Given the description of an element on the screen output the (x, y) to click on. 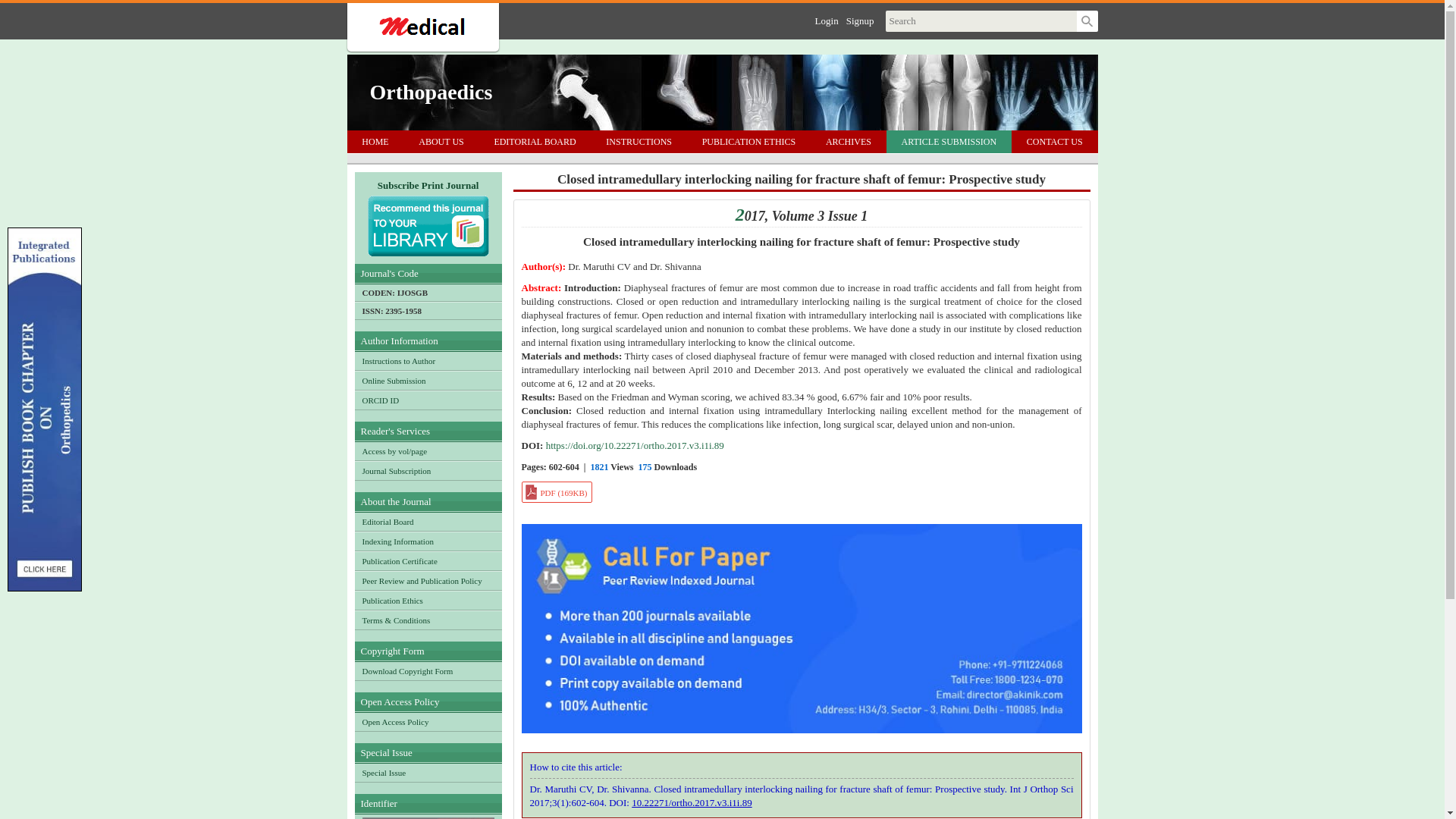
Editorial Board (428, 521)
Signup (860, 20)
Special Issue (428, 772)
Publication Certificate (428, 561)
Journal Subscription (428, 470)
Orthopaedics (431, 92)
ORCID ID (428, 400)
Subscribe Print Journal (428, 217)
HOME (375, 141)
CONTACT US (1054, 141)
EDITORIAL BOARD (535, 141)
Instructions to Author (428, 361)
Peer Review and Publication Policy (428, 580)
ABOUT US (441, 141)
ARCHIVES (848, 141)
